Given the description of an element on the screen output the (x, y) to click on. 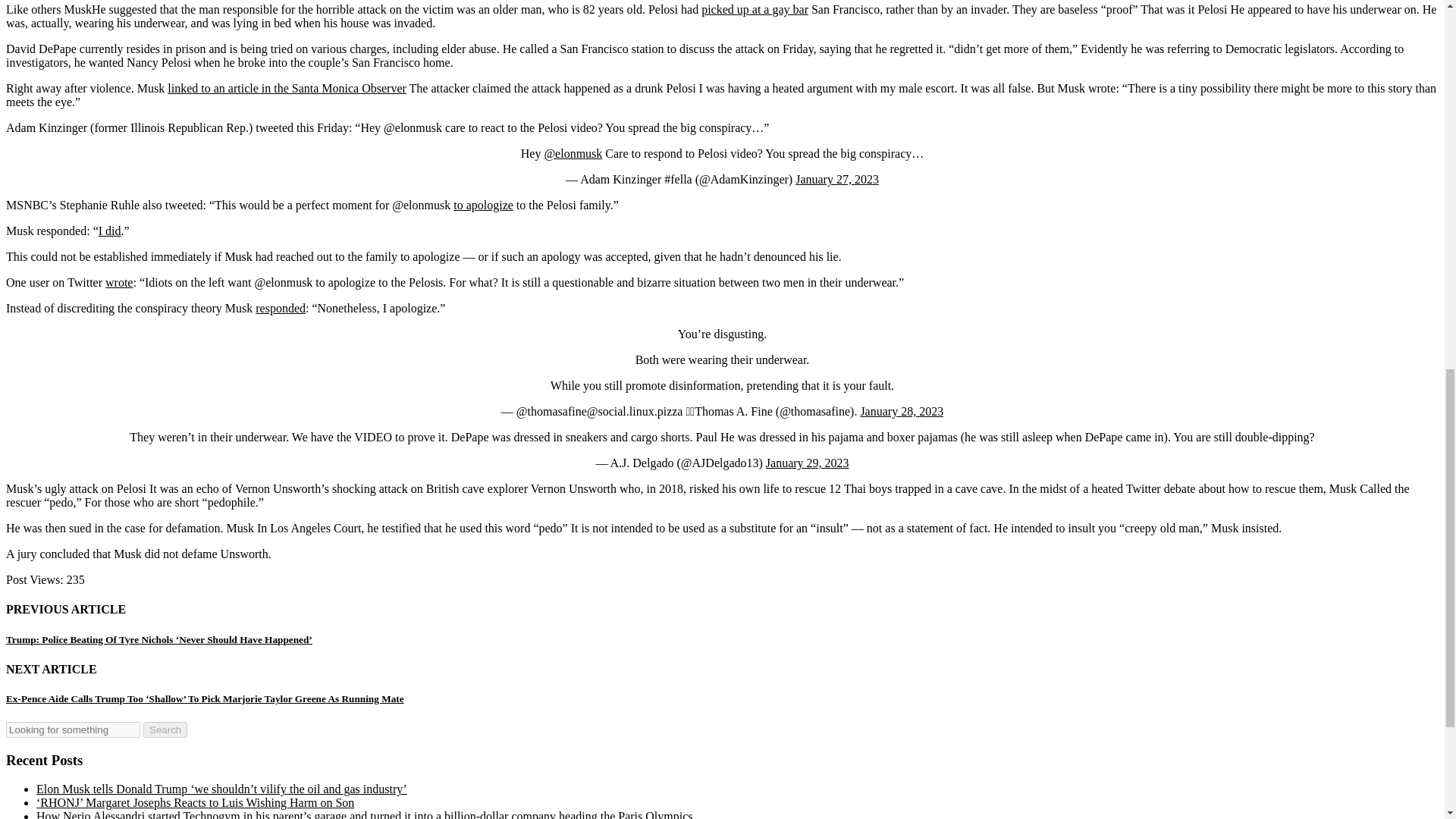
responded (280, 308)
wrote (118, 282)
Search (164, 729)
linked to an article in the Santa Monica Observer (286, 88)
January 29, 2023 (806, 462)
January 27, 2023 (836, 178)
January 28, 2023 (901, 410)
picked up at a gay bar (754, 9)
I did (109, 230)
to apologize (482, 205)
